Given the description of an element on the screen output the (x, y) to click on. 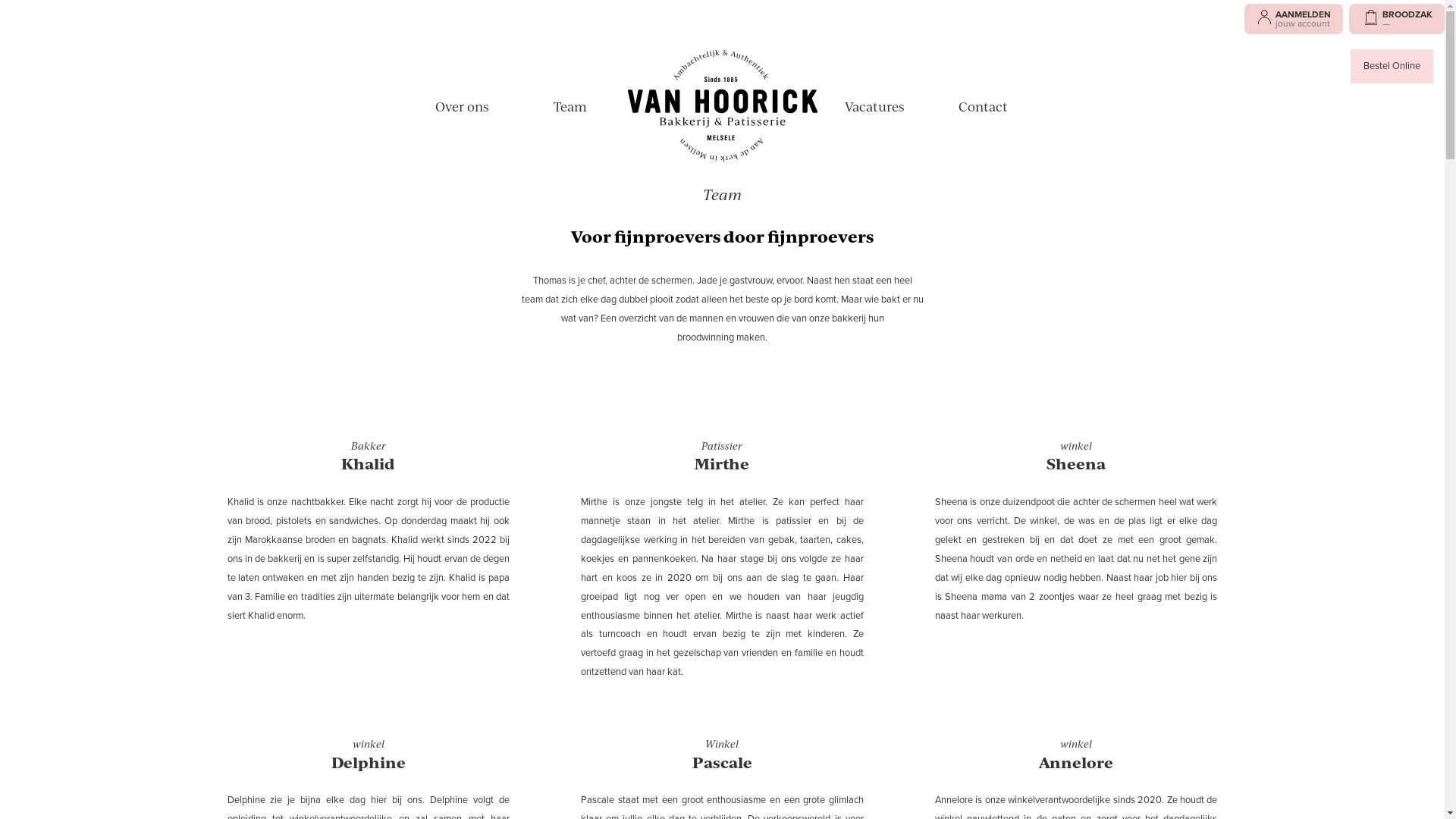
Contact Element type: text (982, 106)
Bestel Online Element type: text (1391, 66)
AANMELDEN
jouw account Element type: text (1293, 18)
Over ons Element type: text (462, 106)
Vacatures Element type: text (874, 106)
Team Element type: text (569, 106)
